Given the description of an element on the screen output the (x, y) to click on. 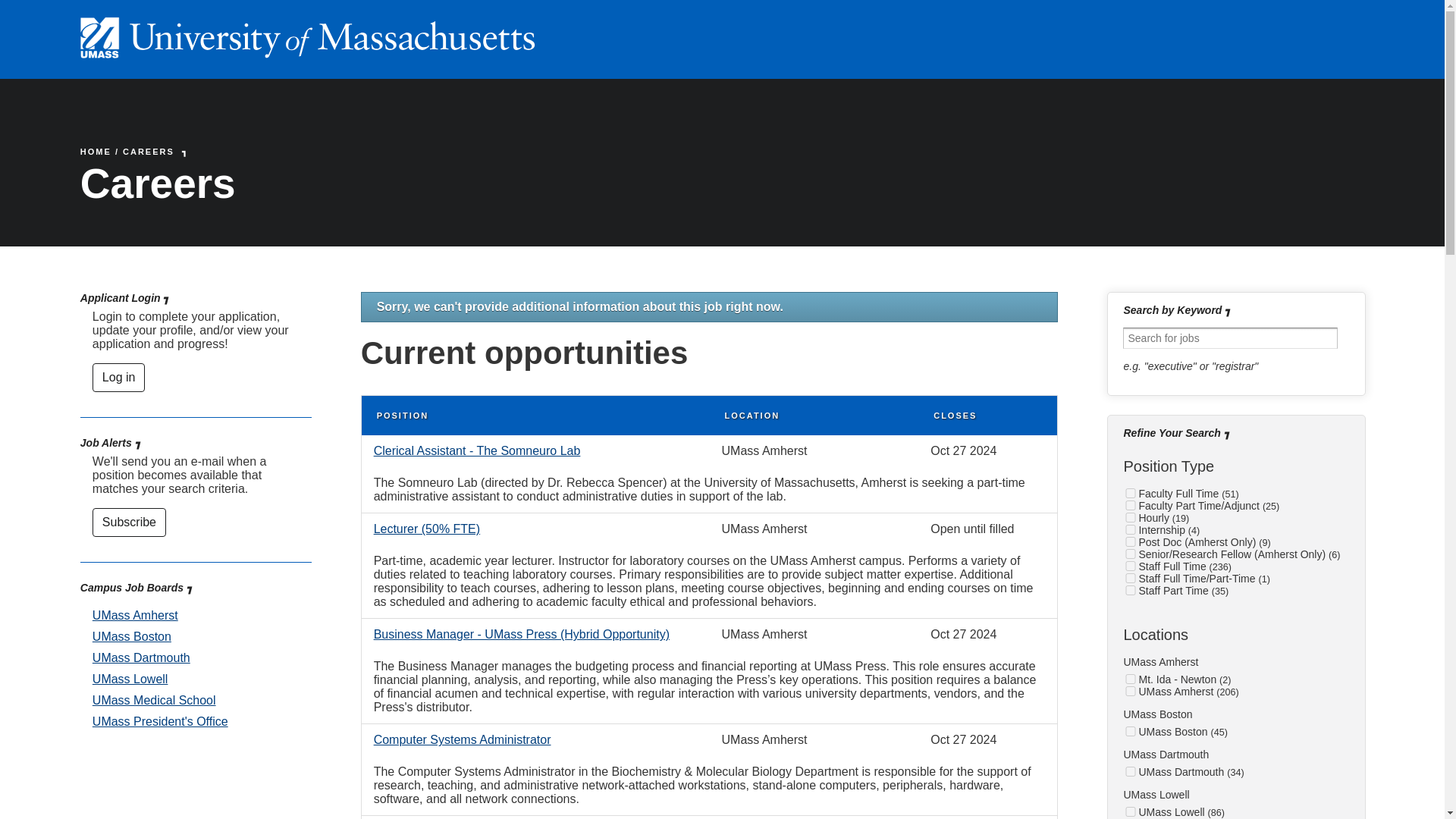
Staff Full Time (1130, 565)
UMass Lowell (130, 678)
UMass Lowell (1130, 811)
Mt. Ida - Newton (1130, 678)
CAREERS (148, 152)
UMass Dartmouth (1130, 771)
UMass Boston (1130, 731)
Staff Part Time (1130, 590)
UMass Amherst (135, 615)
Faculty Full Time (1130, 492)
UMassHorizWhite Created with Sketch. (307, 53)
UMass Amherst (1130, 691)
UMass Dartmouth (141, 657)
UMassHorizWhite Created with Sketch. (307, 37)
UMass Boston (132, 635)
